Given the description of an element on the screen output the (x, y) to click on. 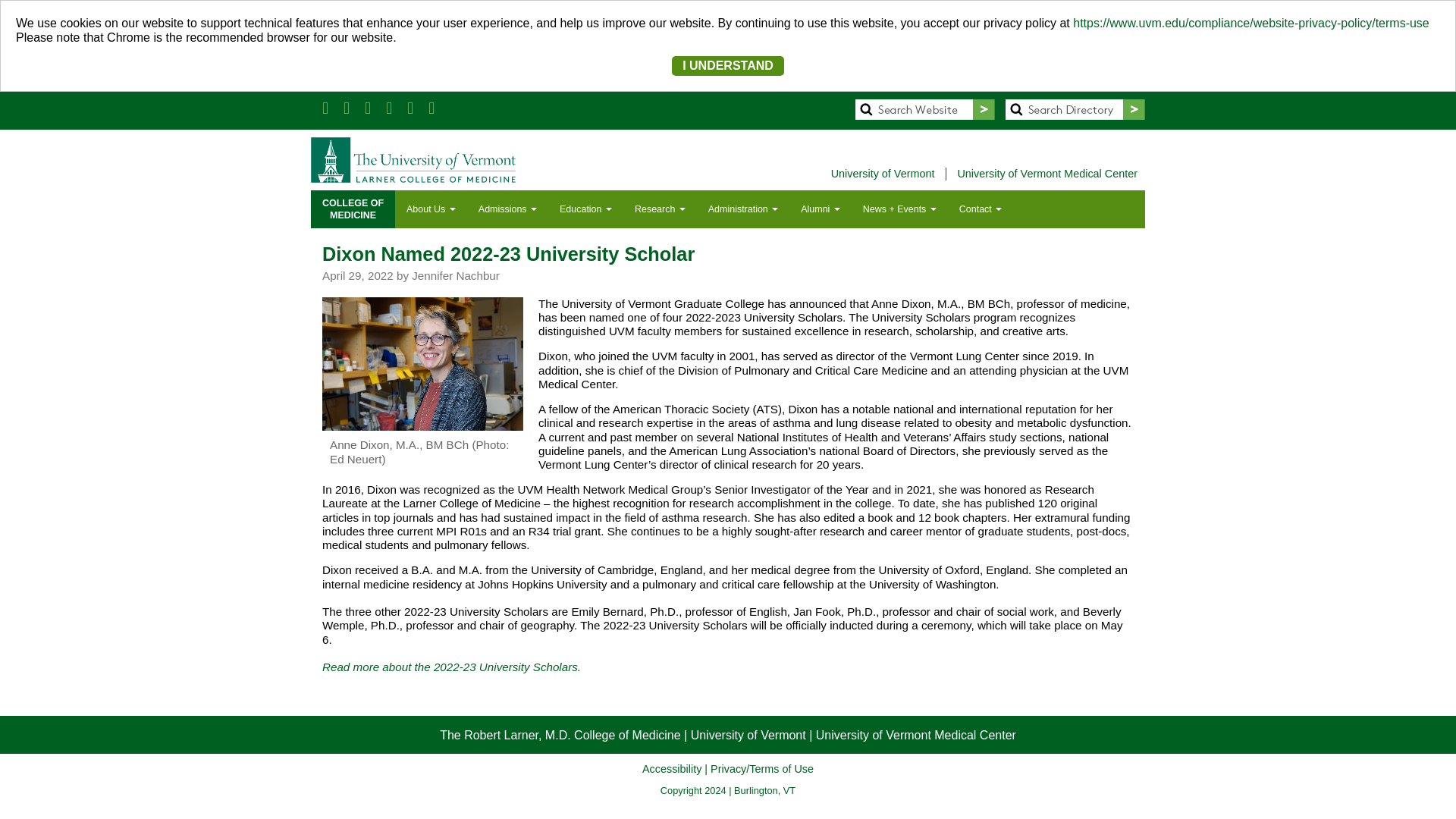
University of Vermont (885, 173)
Research (660, 209)
About Us (430, 209)
I UNDERSTAND (727, 65)
Admissions (507, 209)
University of Vermont Medical Center (1046, 173)
Education (352, 209)
